Given the description of an element on the screen output the (x, y) to click on. 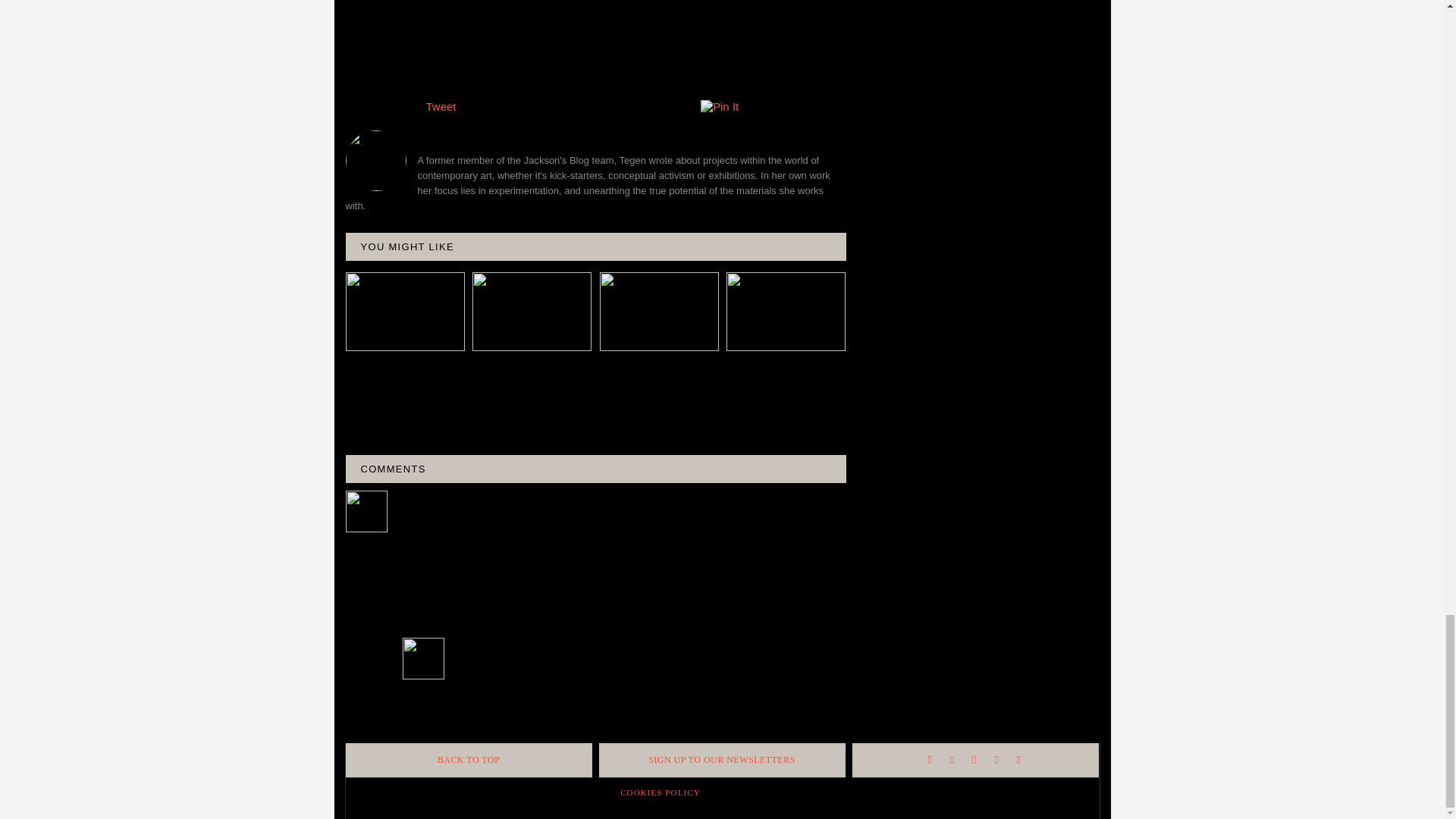
ENVIRONMENT (462, 71)
which you can read about here (685, 23)
Permanent Link: How We Collaborate With Artists (402, 367)
GAMBLIN (531, 71)
OIL PAINT (589, 71)
Posts by Tegen Hager-Suart (595, 135)
Pin It (719, 106)
our range of Gamblin oil paints here (474, 5)
